Given the description of an element on the screen output the (x, y) to click on. 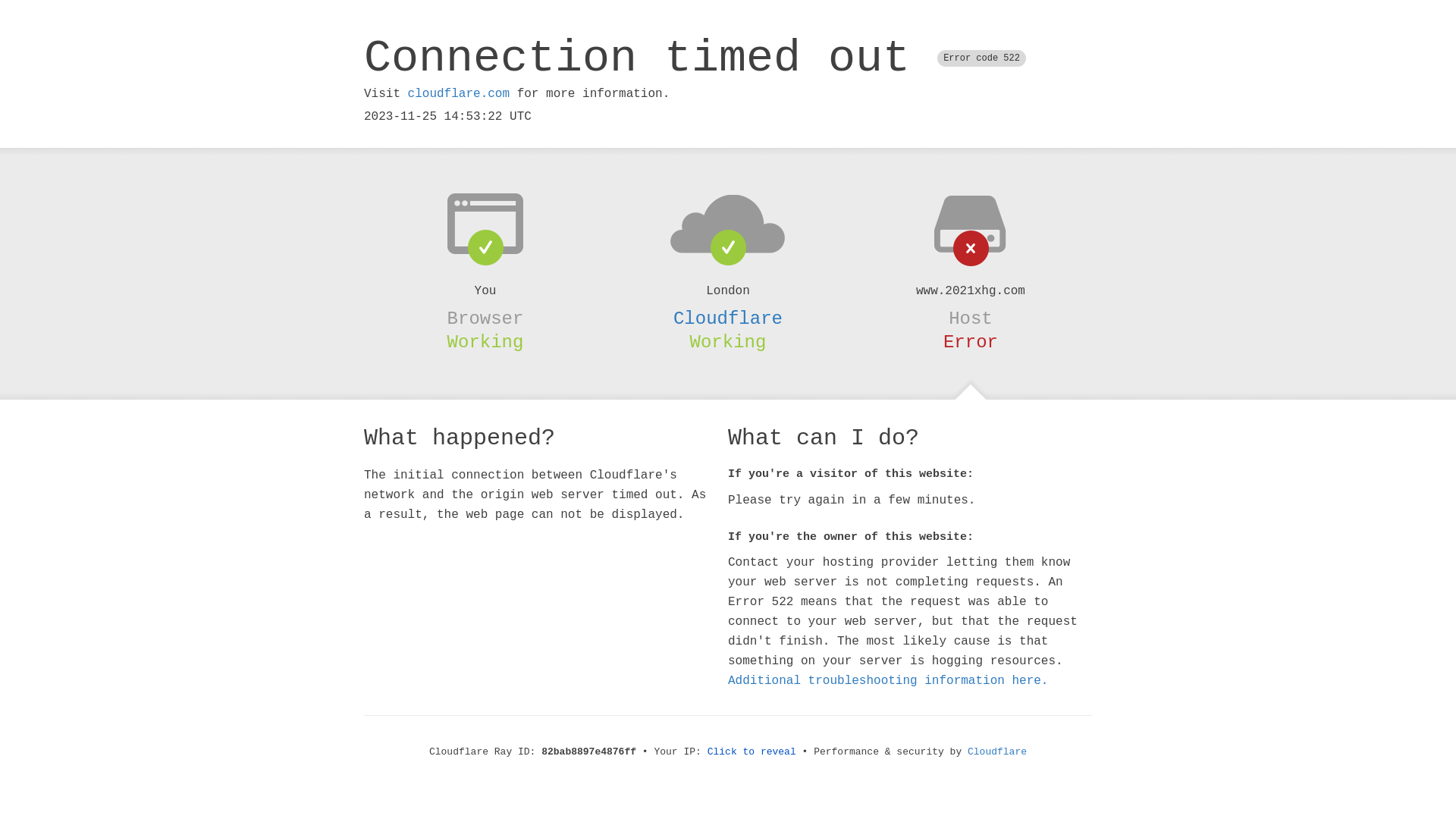
cloudflare.com Element type: text (458, 93)
Cloudflare Element type: text (996, 751)
Cloudflare Element type: text (727, 318)
Click to reveal Element type: text (751, 751)
Additional troubleshooting information here. Element type: text (888, 680)
